Given the description of an element on the screen output the (x, y) to click on. 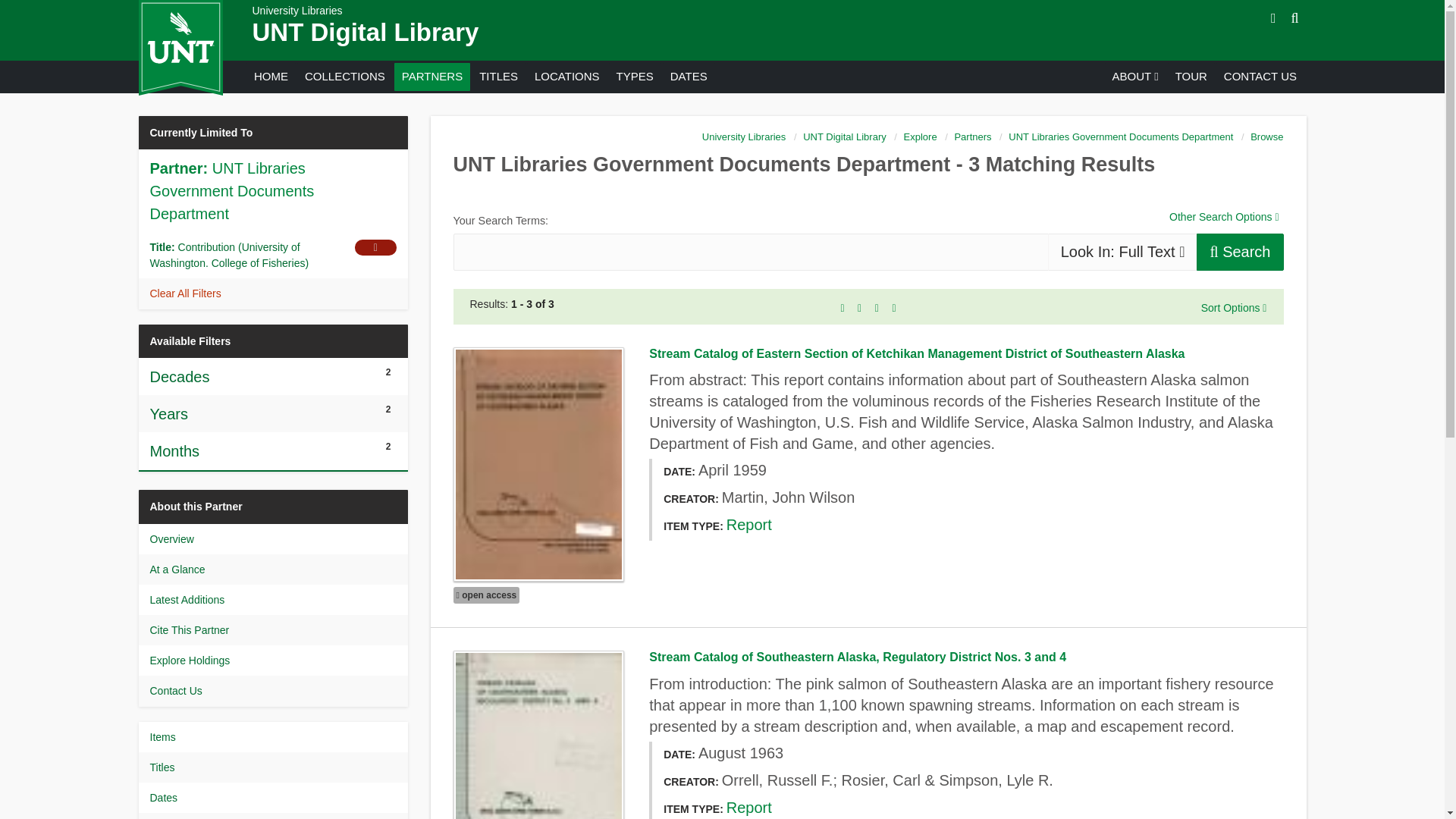
University Libraries (296, 10)
UNT Digital Library (365, 31)
HOME (270, 76)
